Given the description of an element on the screen output the (x, y) to click on. 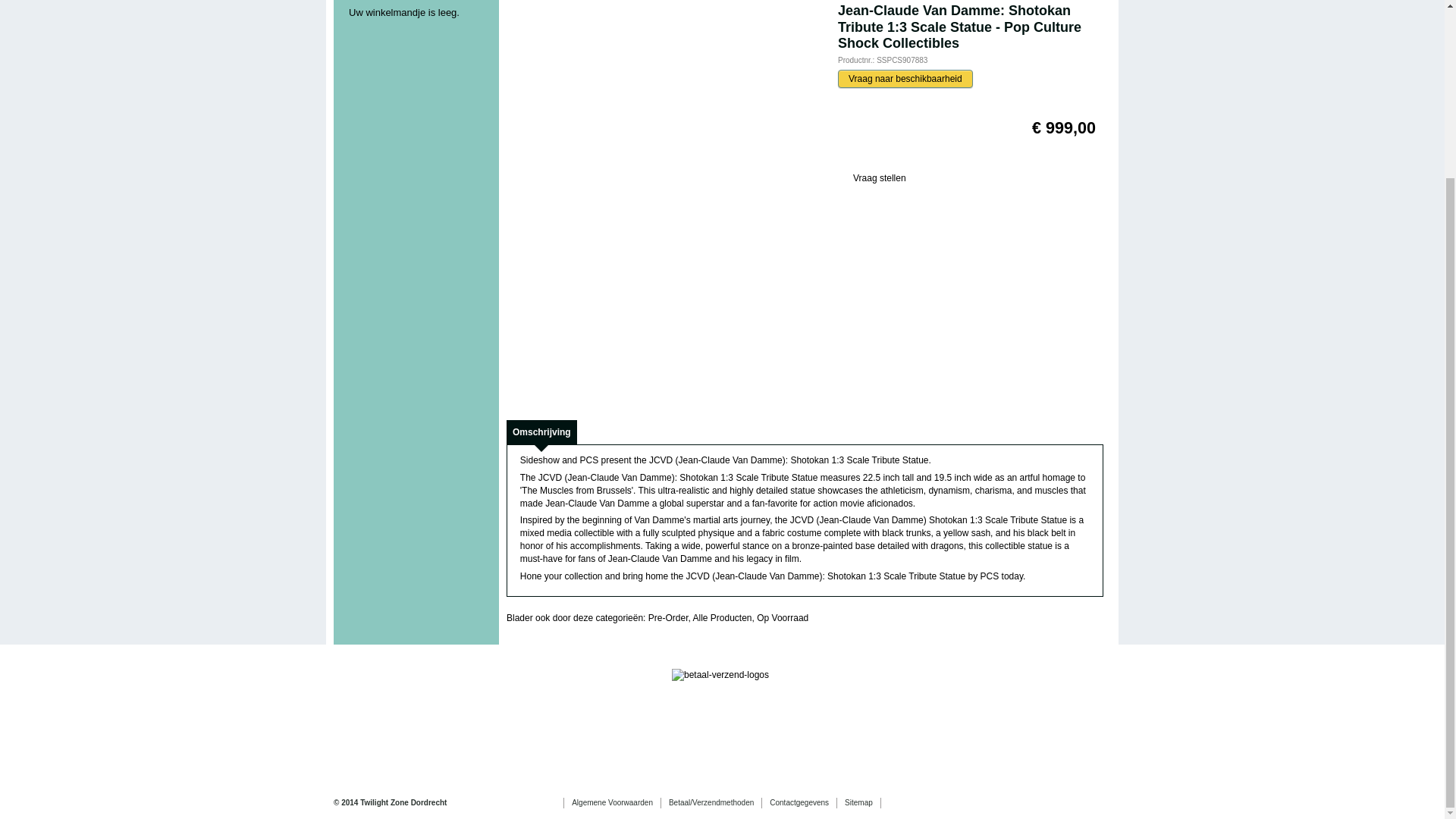
Vraag naar beschikbaarheid (905, 78)
Algemene Voorwaarden (616, 807)
Pre-Order (667, 617)
Sitemap (862, 807)
betaal-verzend-logos (719, 675)
Vraag stellen (871, 178)
Contactgegevens (802, 807)
Omschrijving (541, 432)
Op Voorraad (782, 617)
Alle Producten (722, 617)
